Given the description of an element on the screen output the (x, y) to click on. 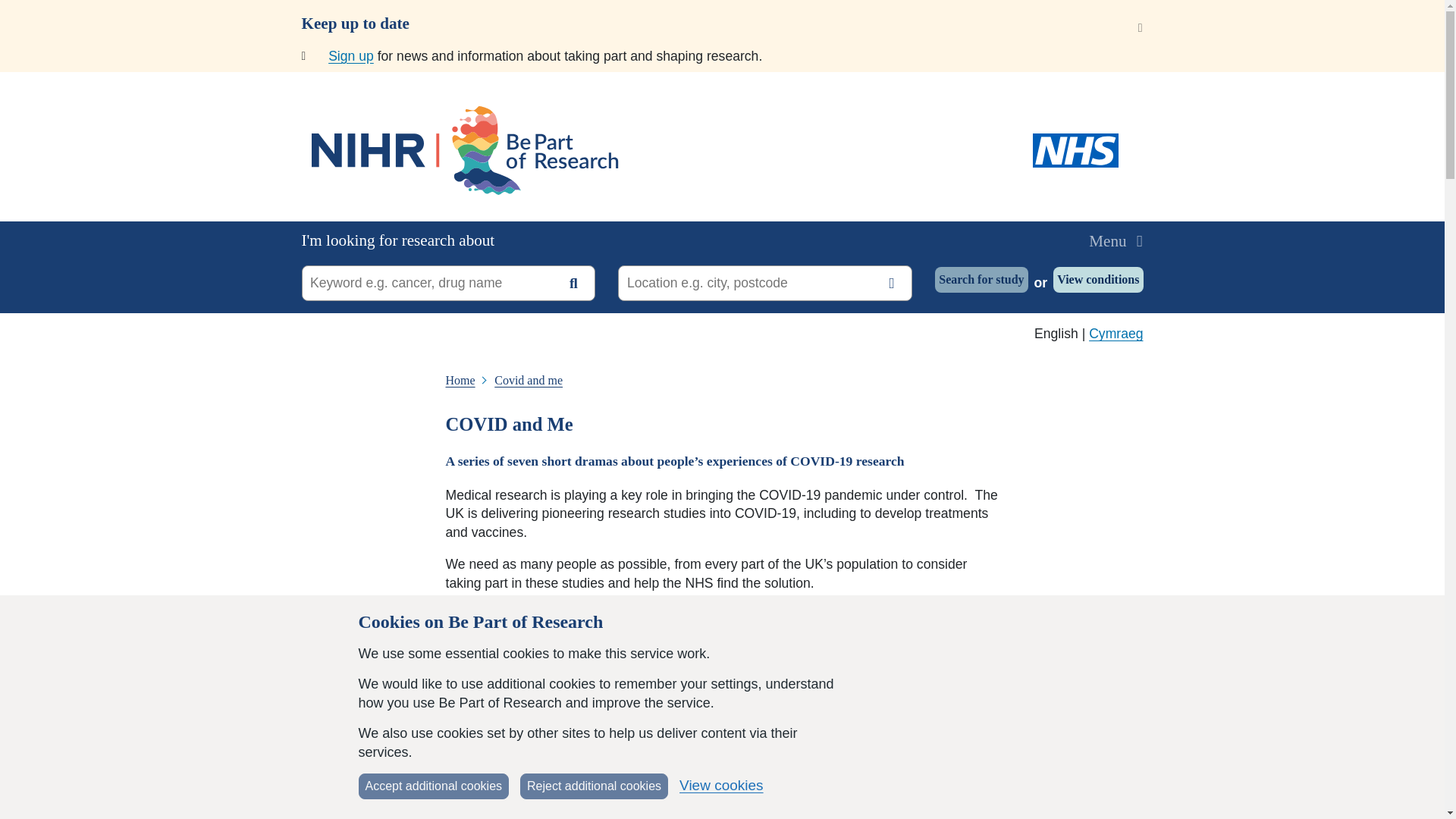
Search for study (980, 279)
Sign up (351, 55)
Accept additional cookies (433, 786)
View cookies (720, 785)
View conditions (1097, 279)
Reject additional cookies (593, 786)
Menu (1114, 241)
